Given the description of an element on the screen output the (x, y) to click on. 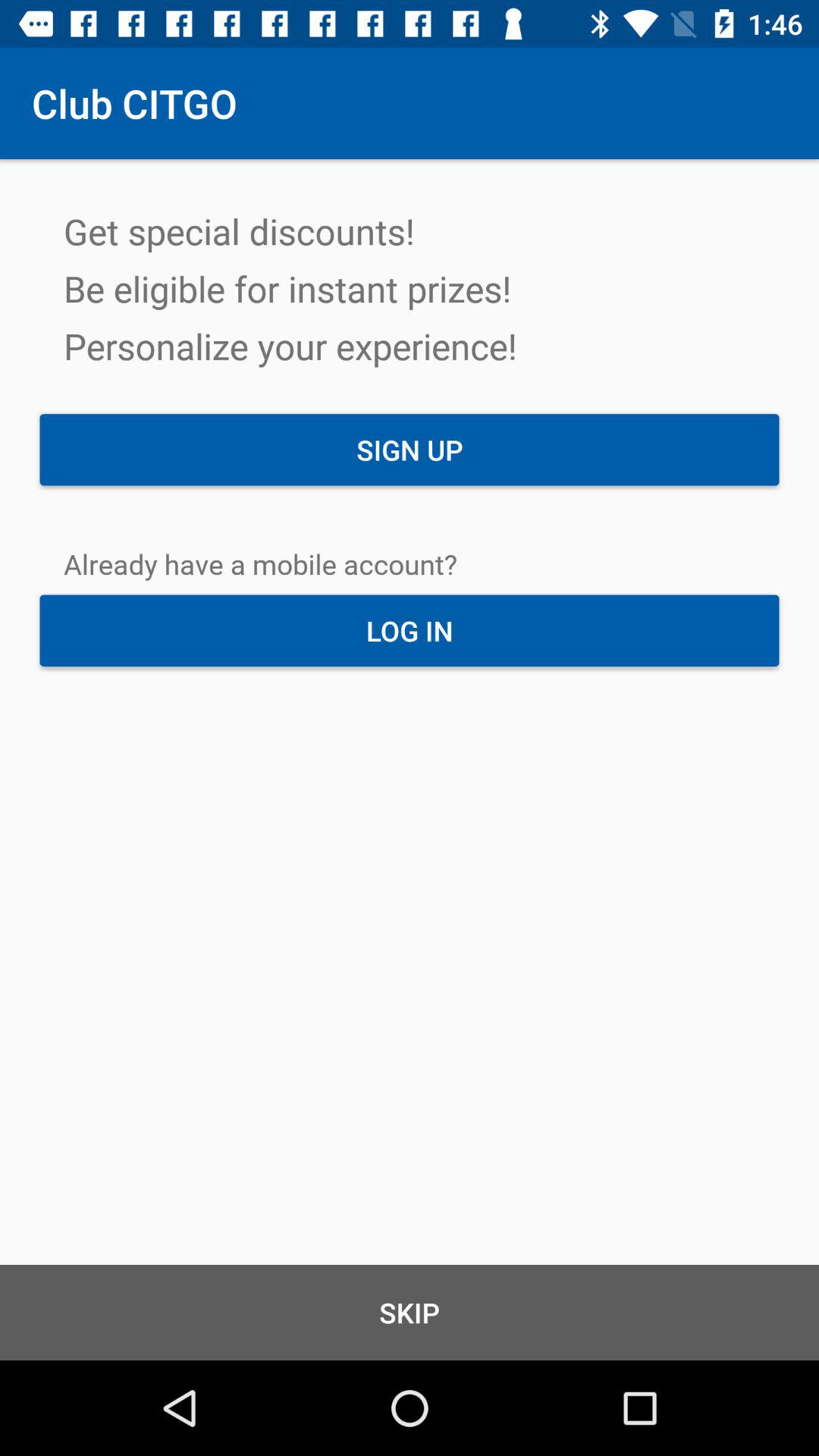
tap icon below log in icon (409, 1312)
